Given the description of an element on the screen output the (x, y) to click on. 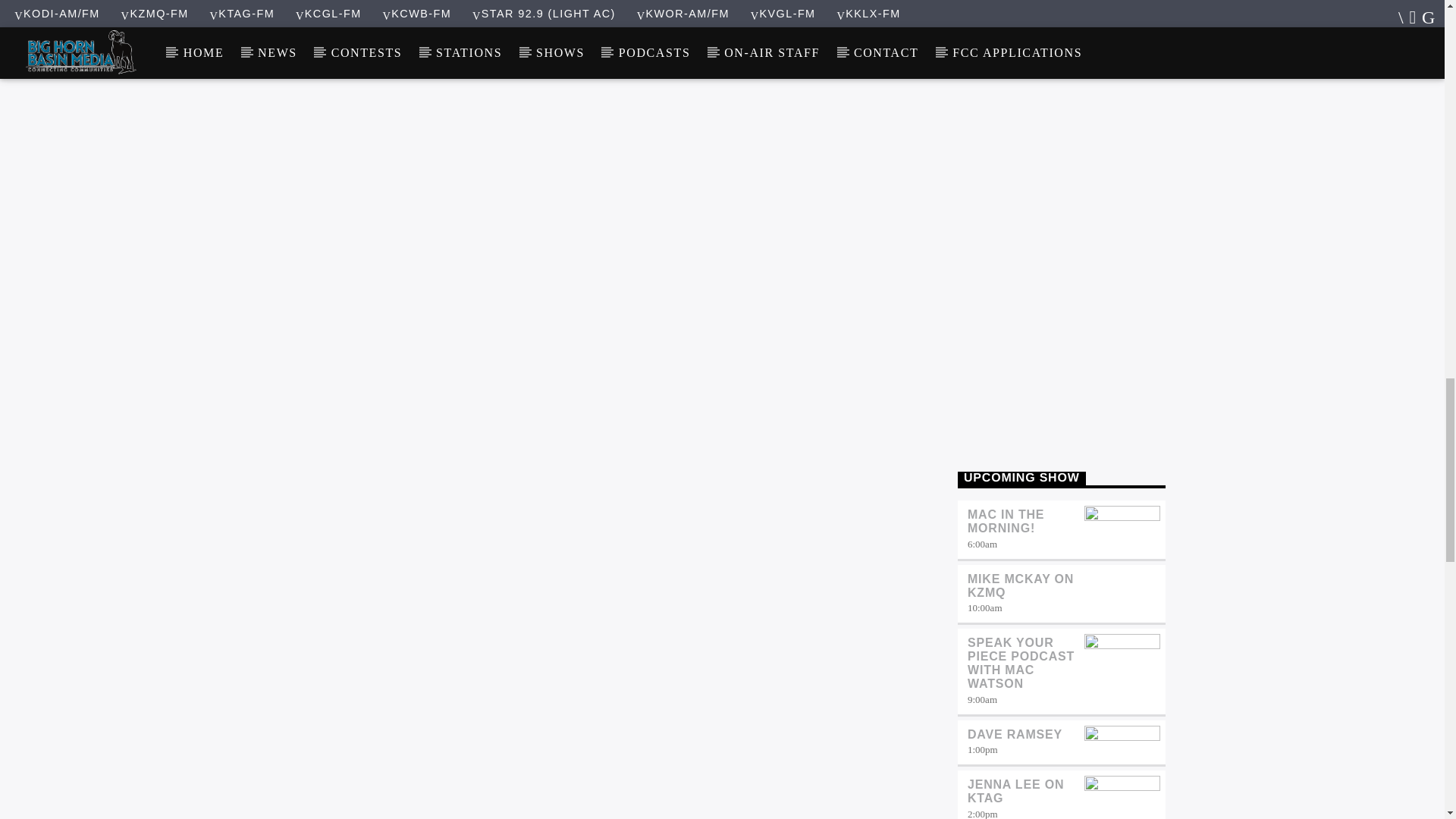
Advertise (1062, 224)
